Given the description of an element on the screen output the (x, y) to click on. 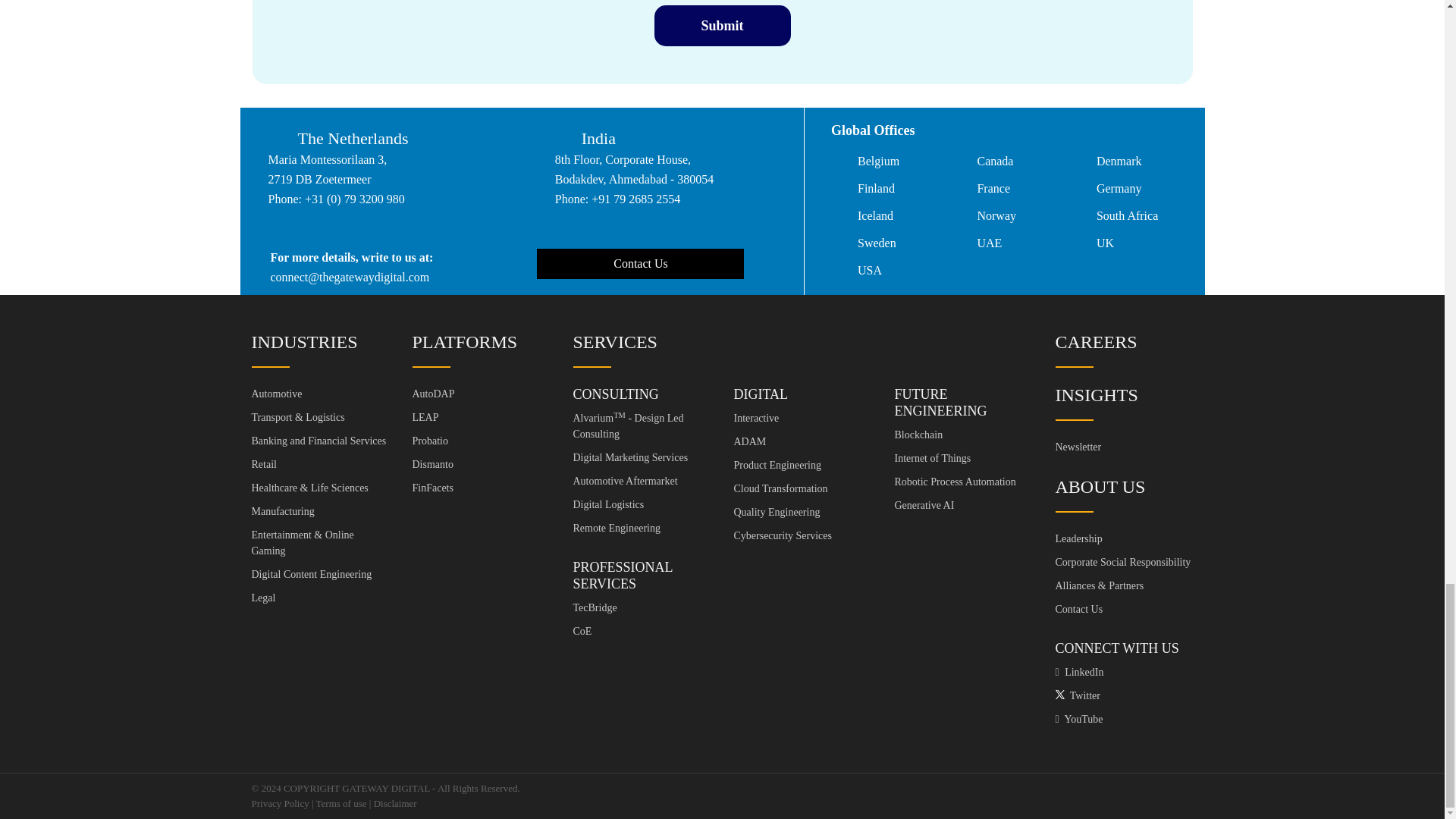
Submit (721, 24)
